Given the description of an element on the screen output the (x, y) to click on. 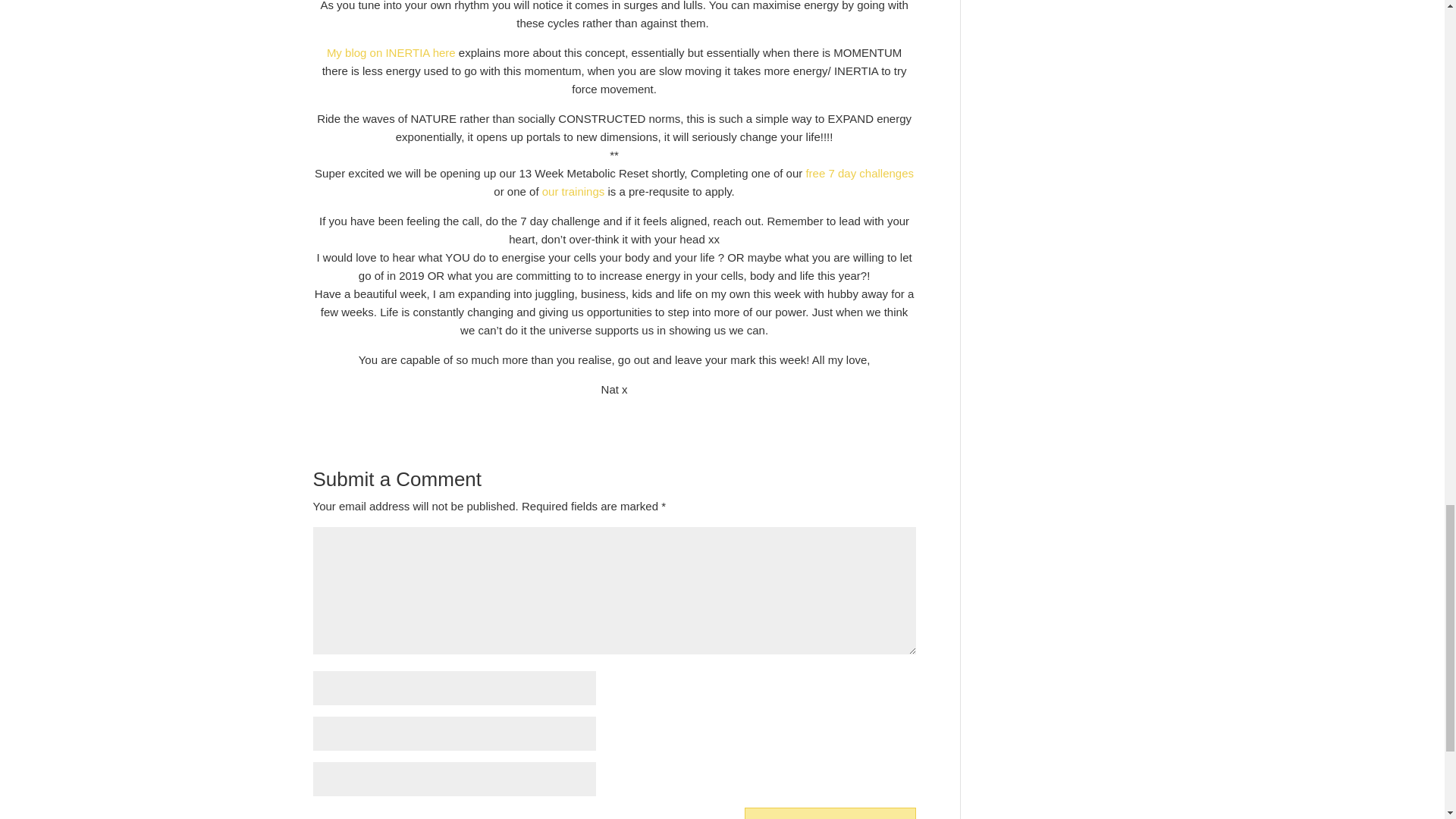
Submit Comment (829, 813)
My blog on INERTIA here (390, 51)
Submit Comment (829, 813)
free 7 day challenges (859, 173)
our trainings (573, 191)
